Given the description of an element on the screen output the (x, y) to click on. 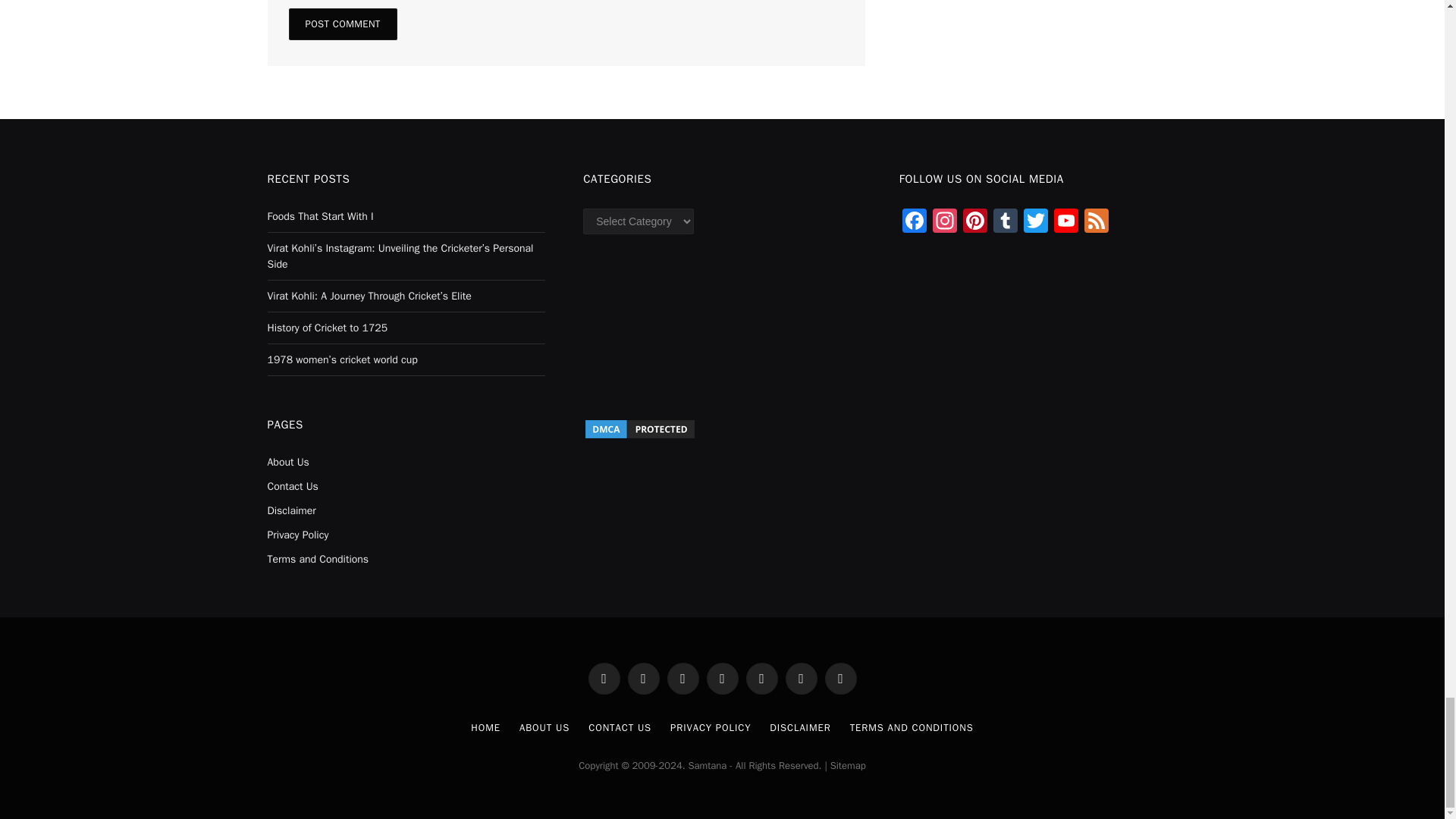
Post Comment (342, 24)
